Given the description of an element on the screen output the (x, y) to click on. 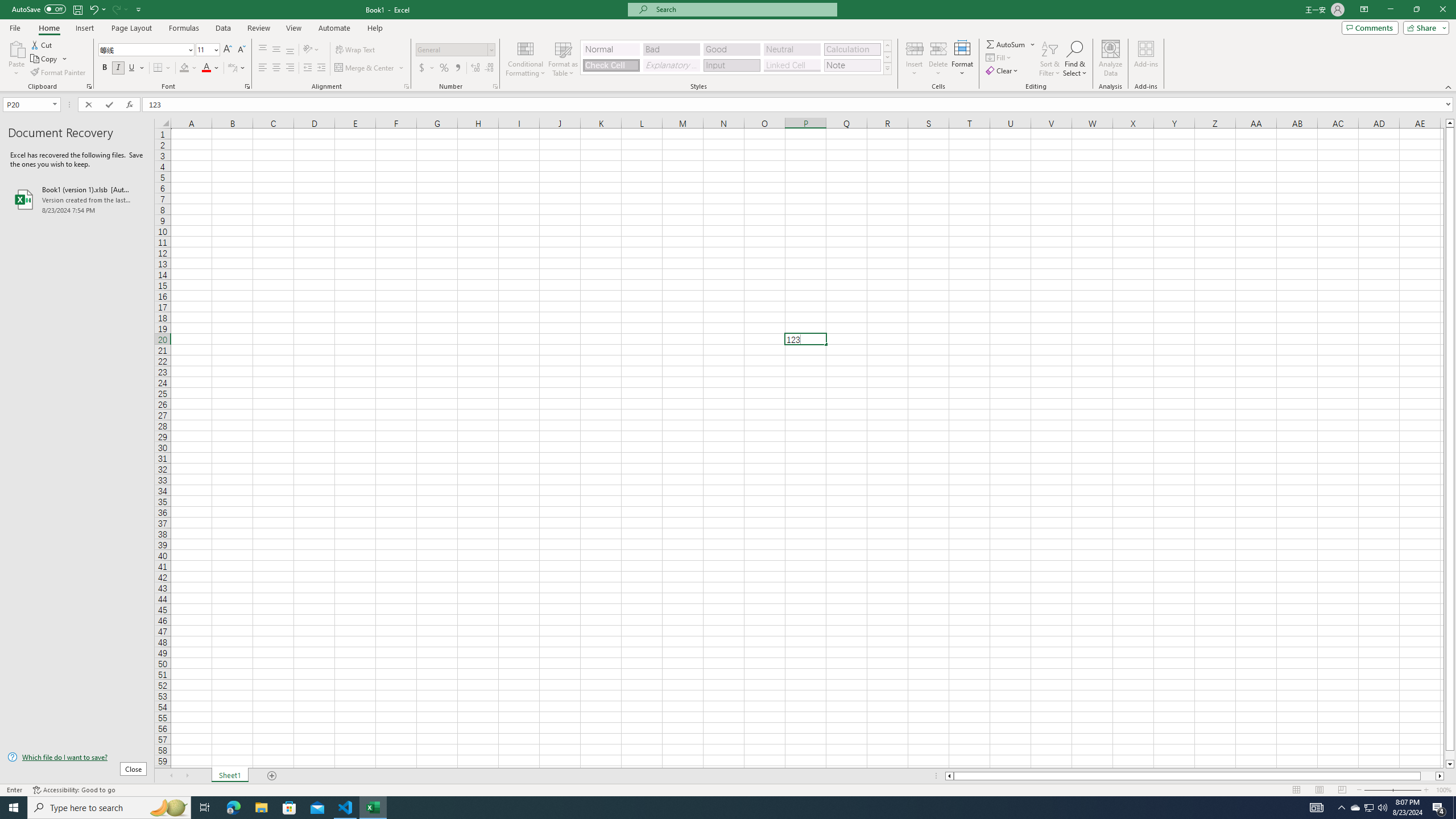
Middle Align (276, 49)
Decrease Indent (307, 67)
Increase Indent (320, 67)
Font Color RGB(255, 0, 0) (206, 67)
Show Phonetic Field (231, 67)
Format Cell Number (494, 85)
Find & Select (1075, 58)
Sum (1006, 44)
